Given the description of an element on the screen output the (x, y) to click on. 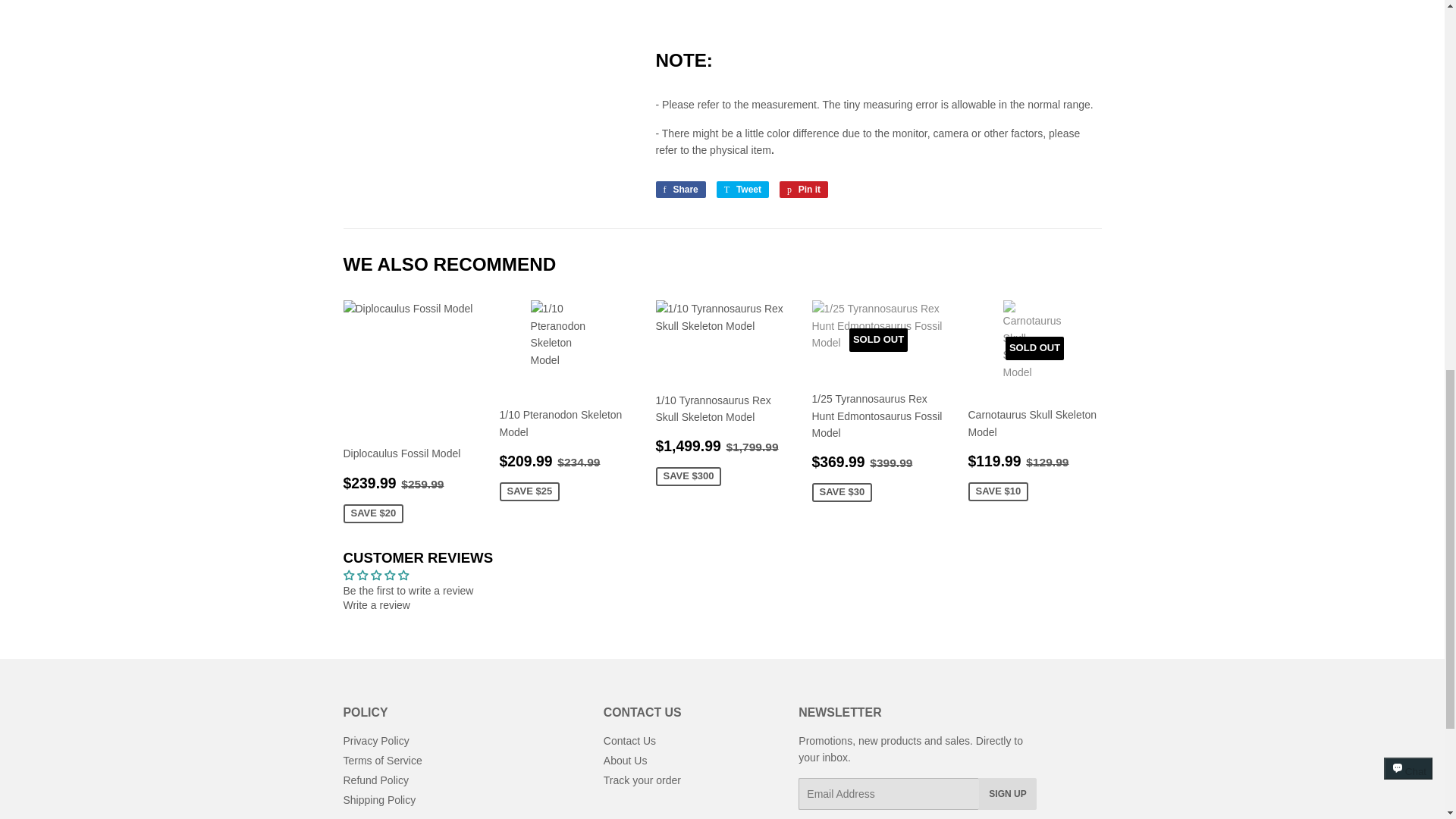
Tweet on Twitter (742, 189)
Share on Facebook (679, 189)
Pin on Pinterest (803, 189)
